Given the description of an element on the screen output the (x, y) to click on. 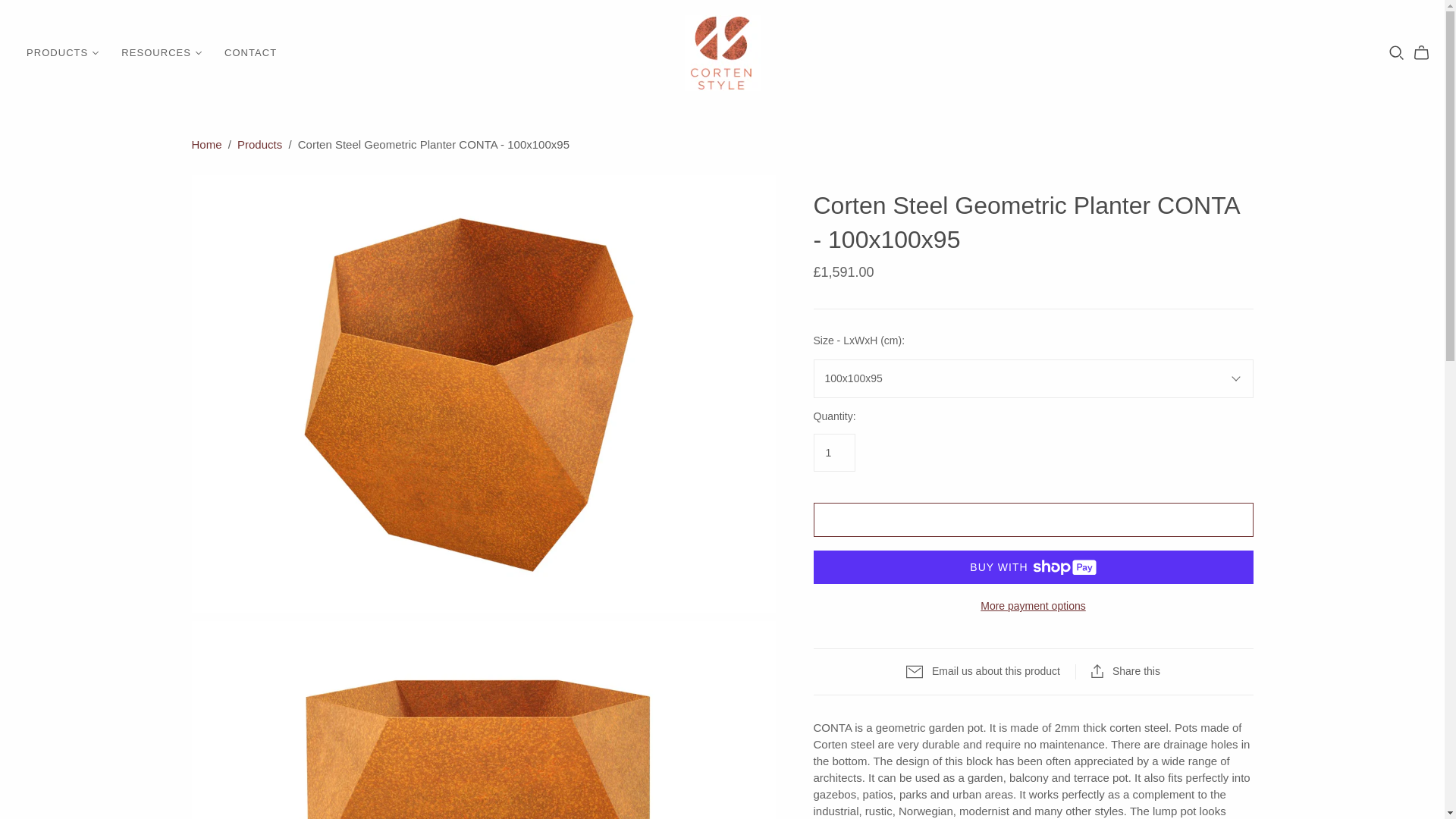
1 (833, 452)
PRODUCTS (62, 53)
